Given the description of an element on the screen output the (x, y) to click on. 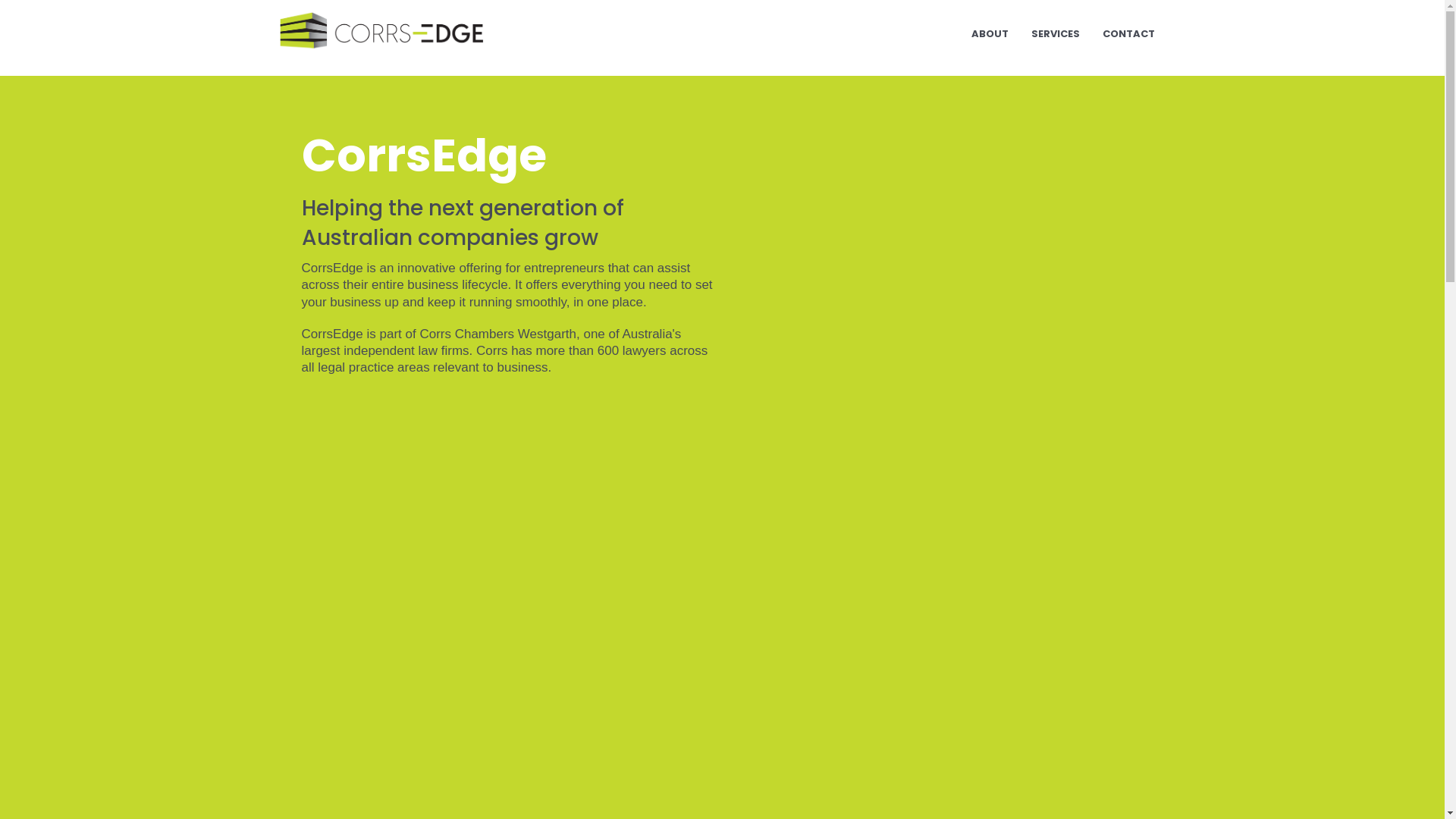
CONTACT Element type: text (1127, 34)
ABOUT Element type: text (989, 34)
SERVICES Element type: text (1054, 34)
